Given the description of an element on the screen output the (x, y) to click on. 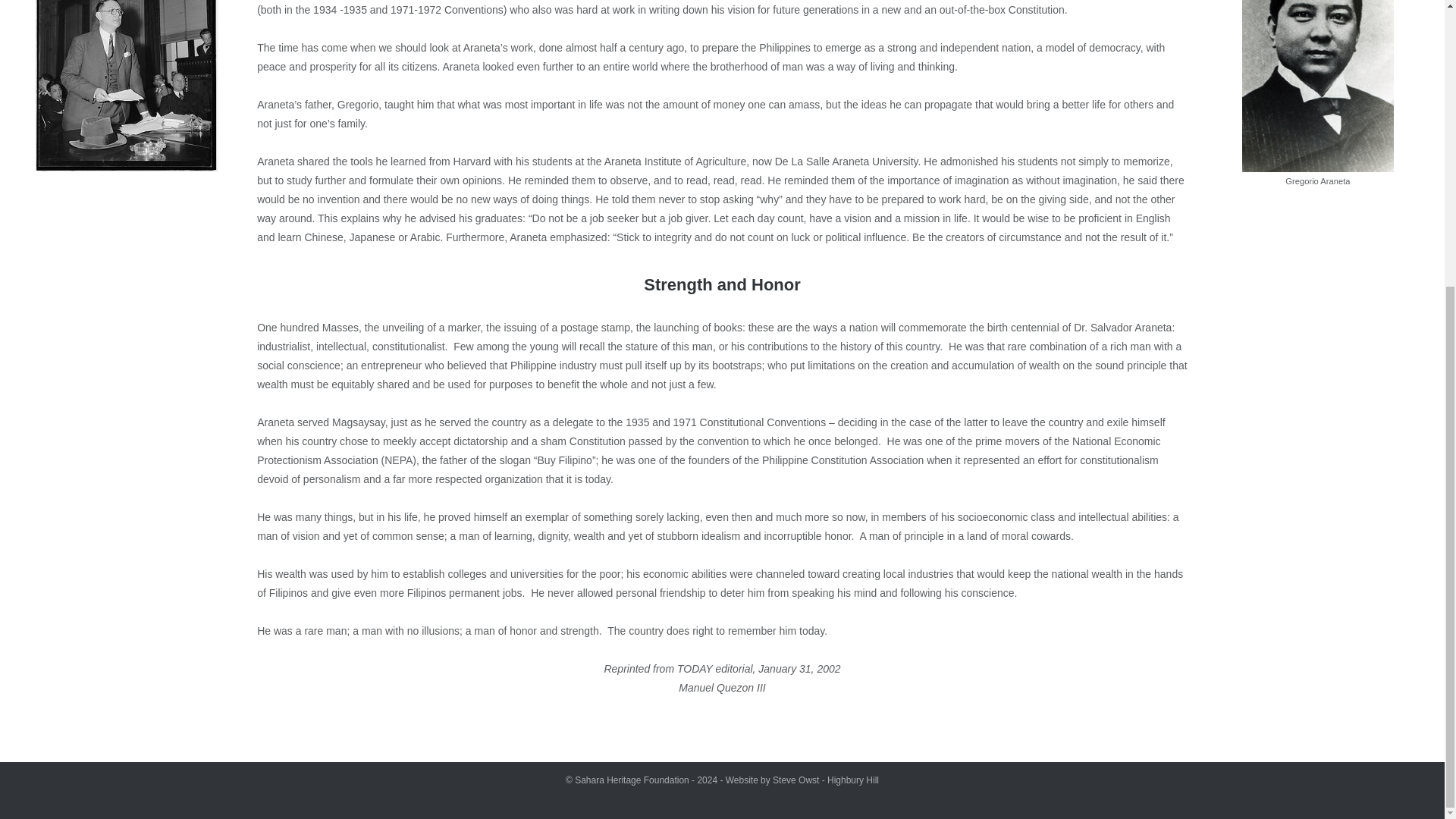
Website by Steve Owst - Highbury Hill (802, 779)
